Given the description of an element on the screen output the (x, y) to click on. 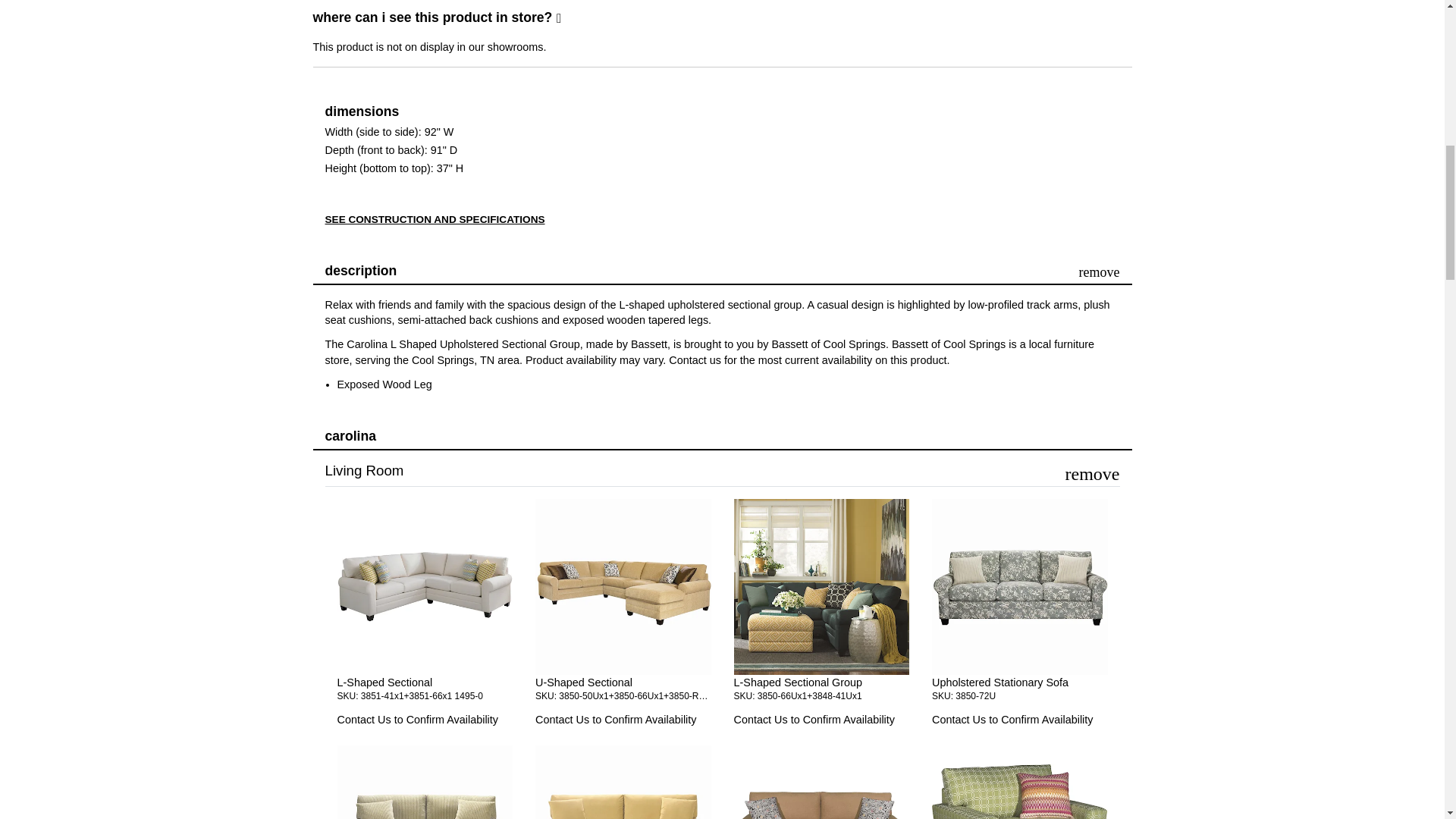
Click to show more (623, 696)
